Given the description of an element on the screen output the (x, y) to click on. 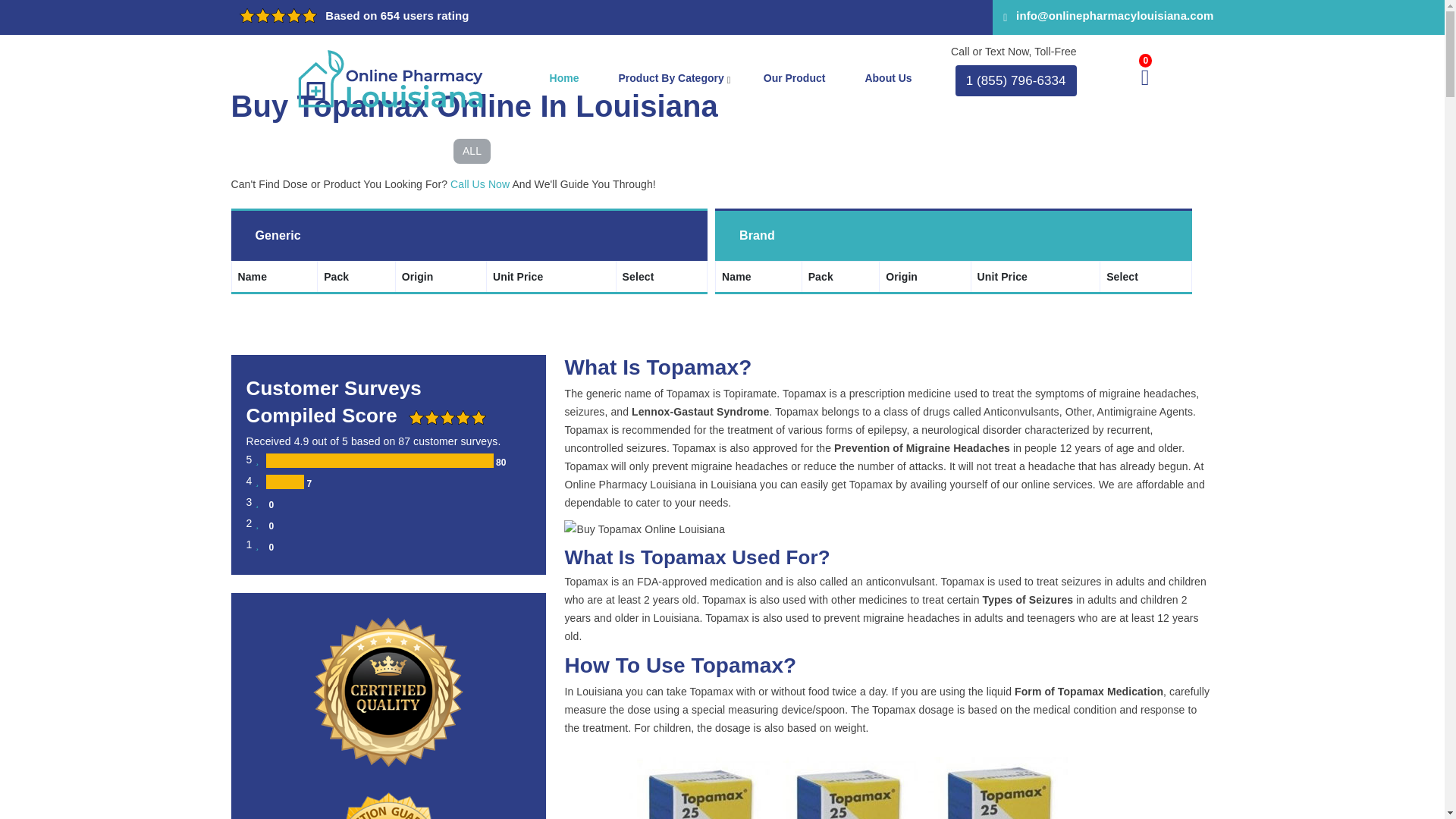
Our Product (794, 78)
Product By Category (670, 78)
About Us (887, 78)
Call Us Now (479, 184)
ALL (471, 150)
